Given the description of an element on the screen output the (x, y) to click on. 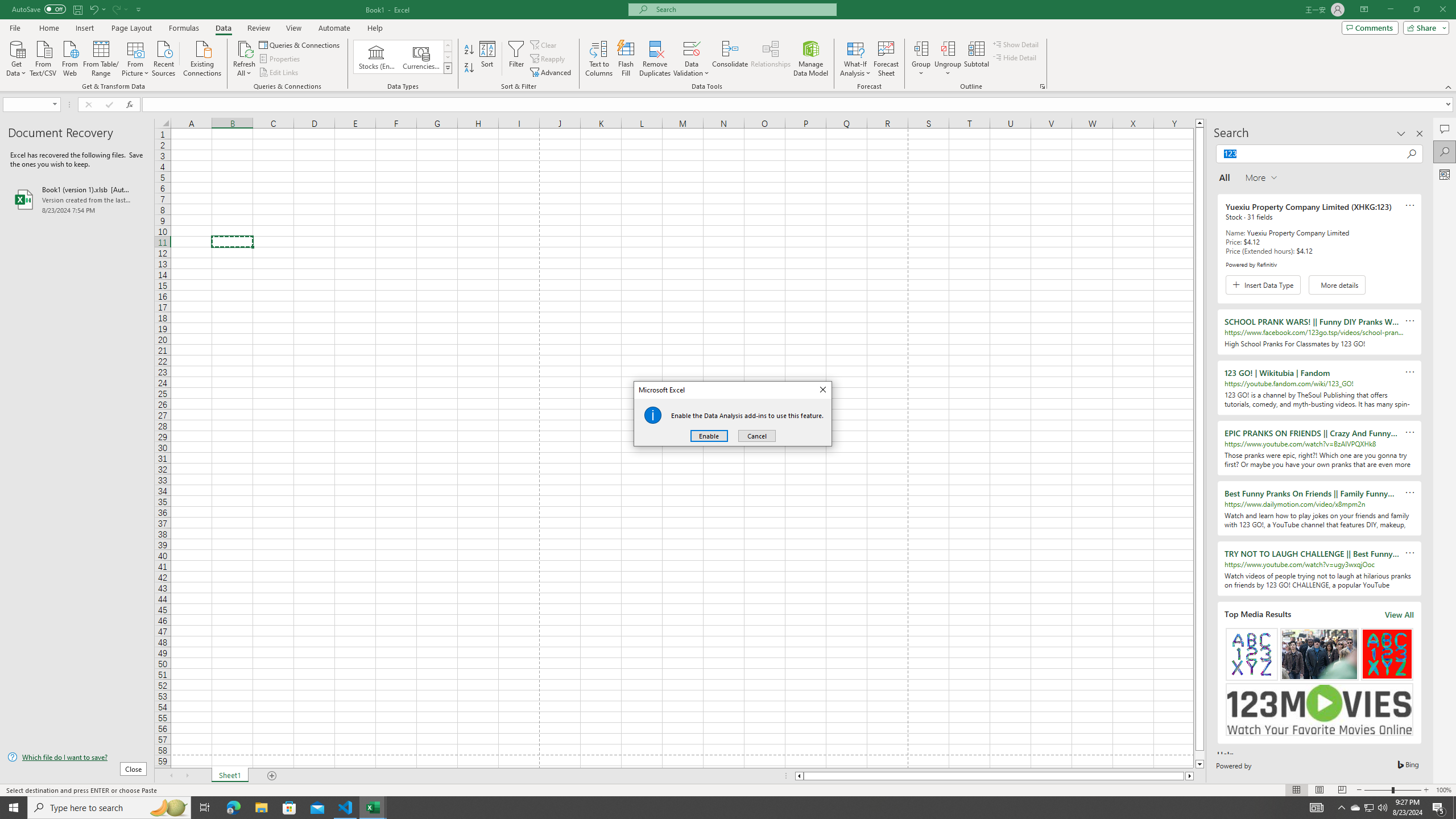
Microsoft Edge (233, 807)
AutomationID: 4105 (1316, 807)
Q2790: 100% (1382, 807)
Visual Studio Code - 1 running window (345, 807)
